Given the description of an element on the screen output the (x, y) to click on. 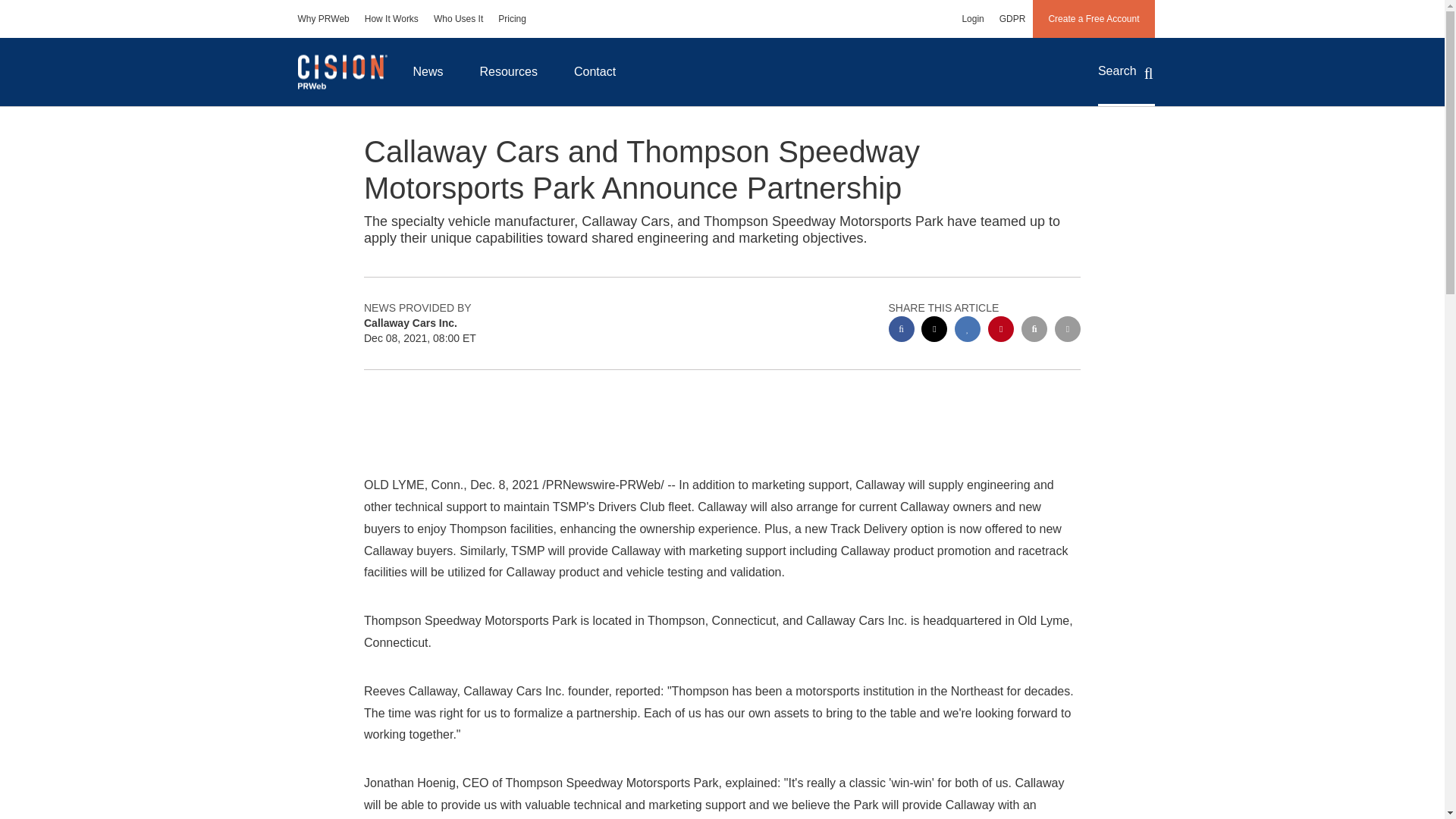
Who Uses It (458, 18)
Resources (508, 71)
Create a Free Account (1093, 18)
Contact (594, 71)
Pricing (512, 18)
Why PRWeb (322, 18)
How It Works (391, 18)
GDPR (1012, 18)
Login (972, 18)
News (427, 71)
